Given the description of an element on the screen output the (x, y) to click on. 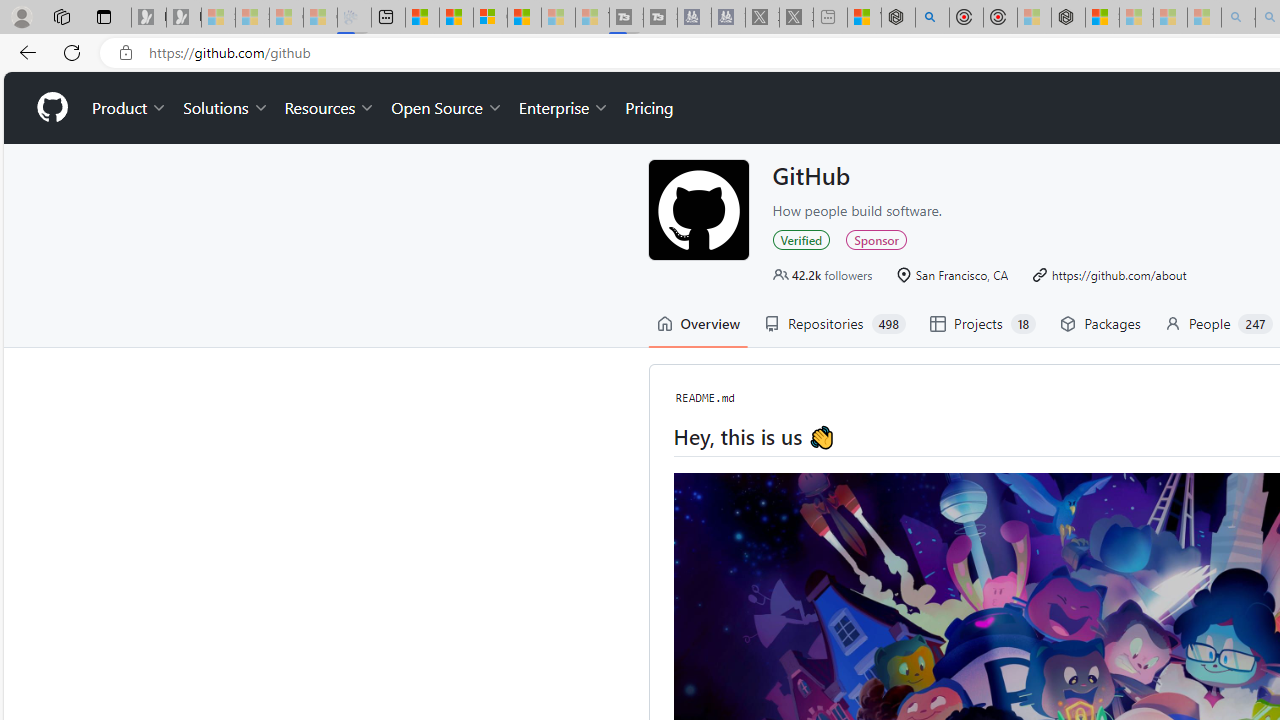
42.2k followers (821, 274)
Pricing (649, 107)
San Francisco, CA (952, 274)
Repositories 498 (834, 323)
Projects 18 (982, 323)
Pricing (649, 107)
